Given the description of an element on the screen output the (x, y) to click on. 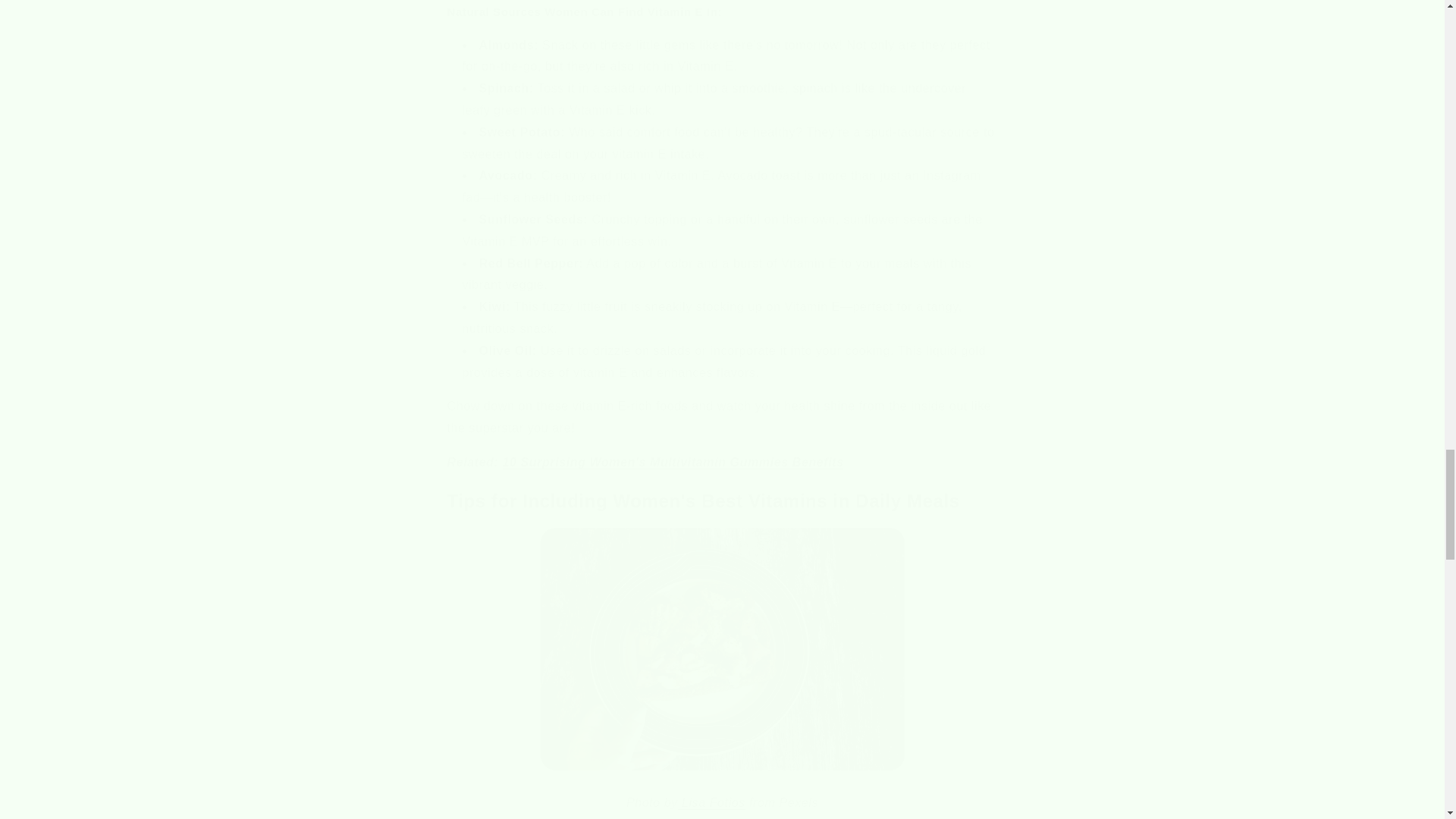
10 Surprising Women's Multivitamin Gummies Benefits (672, 461)
women's best- gruns (711, 802)
women's best- gruns (672, 461)
Lisa Fotios (711, 802)
natural vitamins for women- Gruns (722, 648)
